Given the description of an element on the screen output the (x, y) to click on. 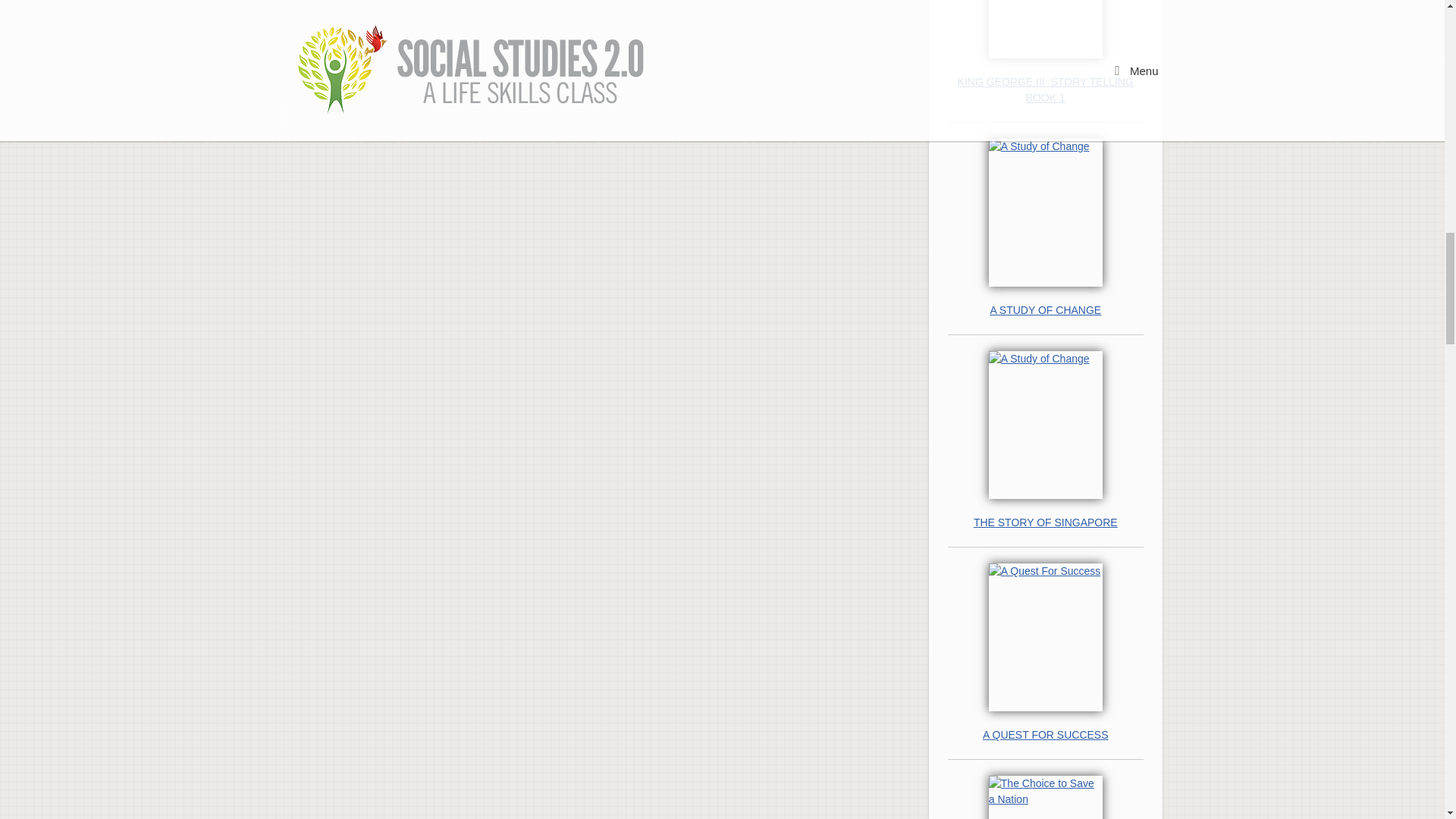
A STUDY OF CHANGE (1044, 310)
KING GEORGE III: STORY TELLING BOOK 1 (1044, 90)
A QUEST FOR SUCCESS (1044, 734)
THE STORY OF SINGAPORE (1044, 522)
